Given the description of an element on the screen output the (x, y) to click on. 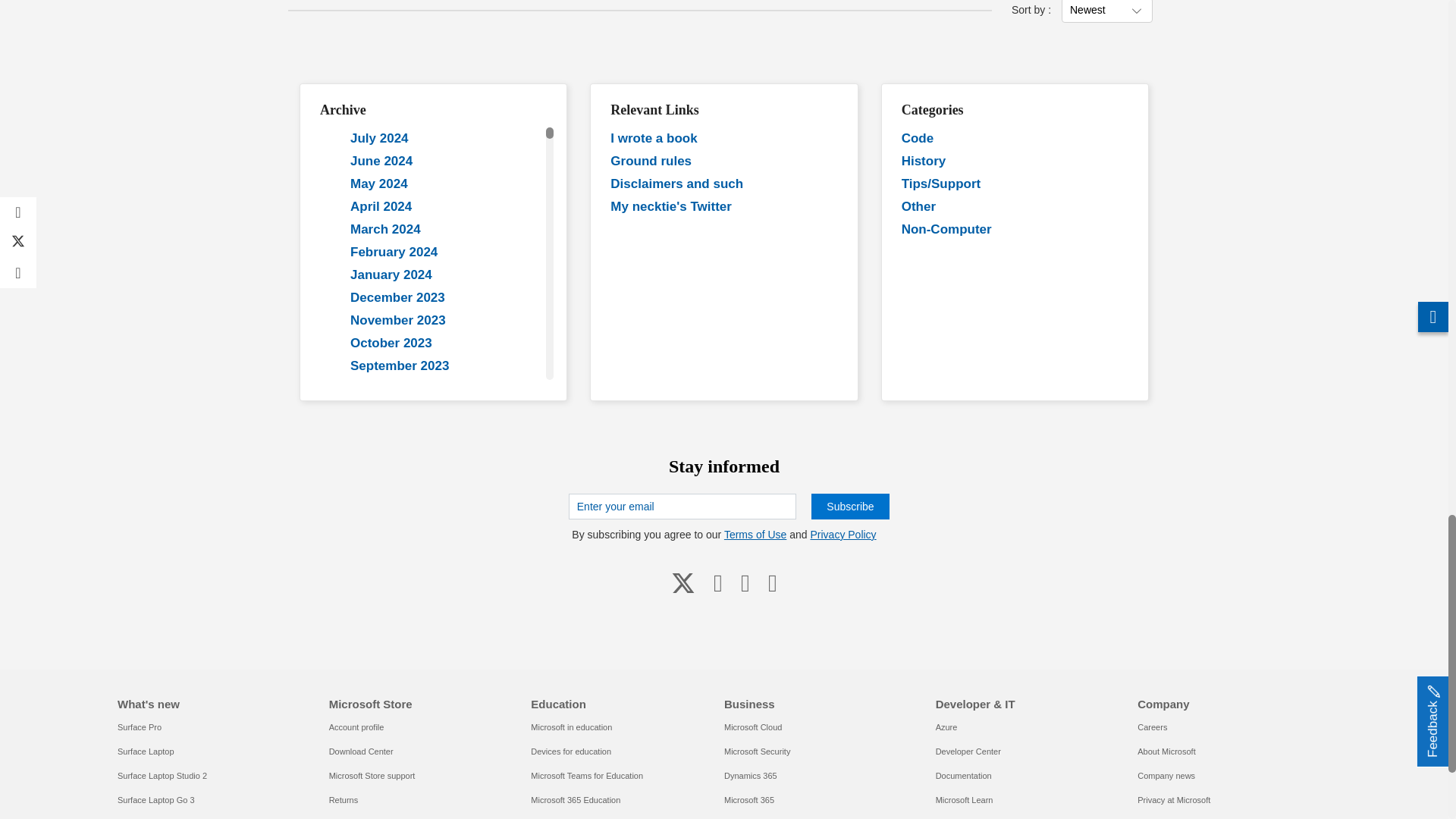
youtube (718, 581)
RSS Feed (772, 581)
twitter (683, 581)
GitHub (745, 581)
Subscribe (849, 506)
